Given the description of an element on the screen output the (x, y) to click on. 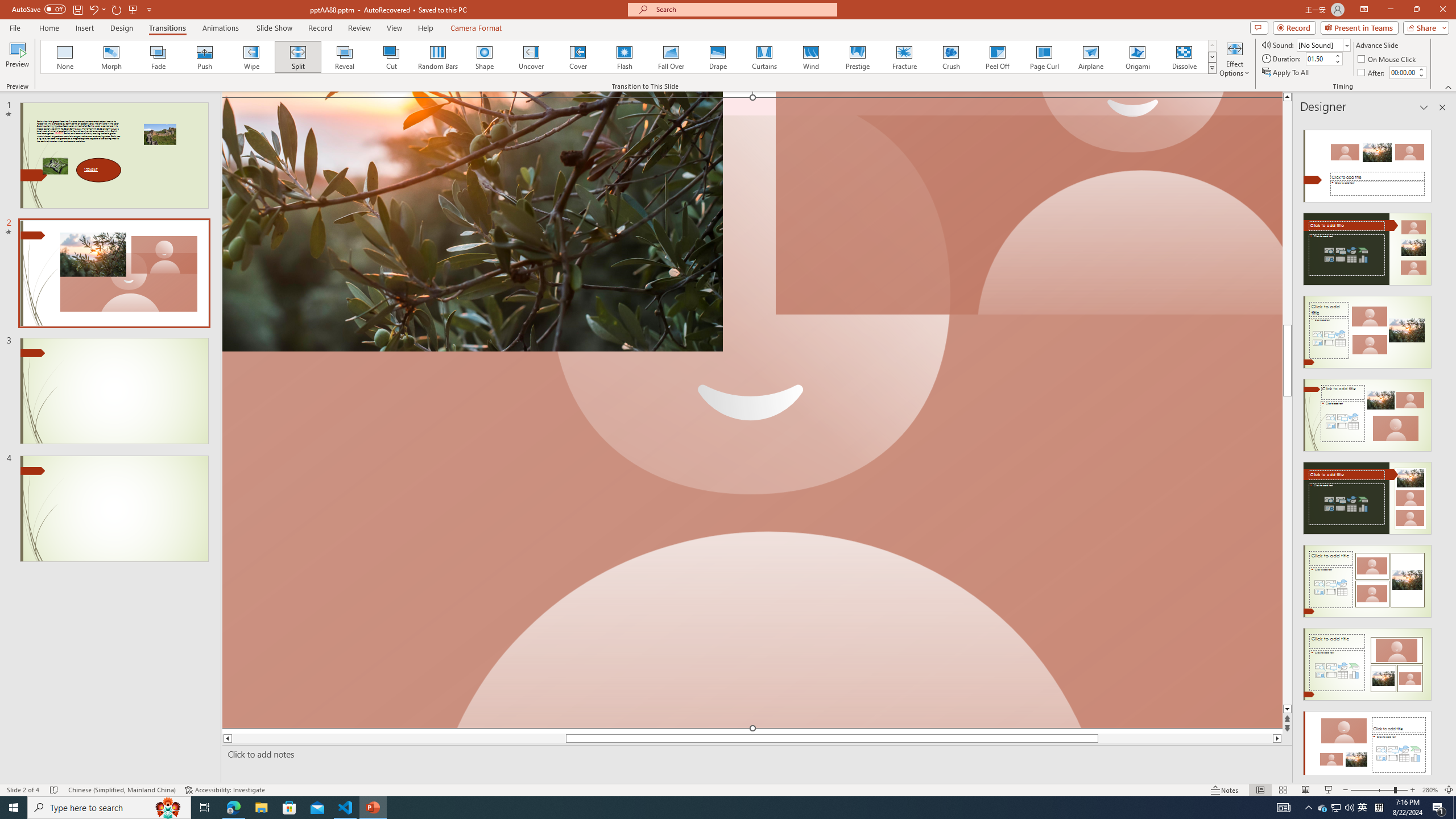
Slide Notes (754, 754)
Curtains (764, 56)
Camera 7, No camera detected. (1028, 203)
Sound (1324, 44)
Camera 13, No camera detected. (752, 412)
Drape (717, 56)
Fall Over (670, 56)
Zoom 280% (1430, 790)
Cut (391, 56)
